Given the description of an element on the screen output the (x, y) to click on. 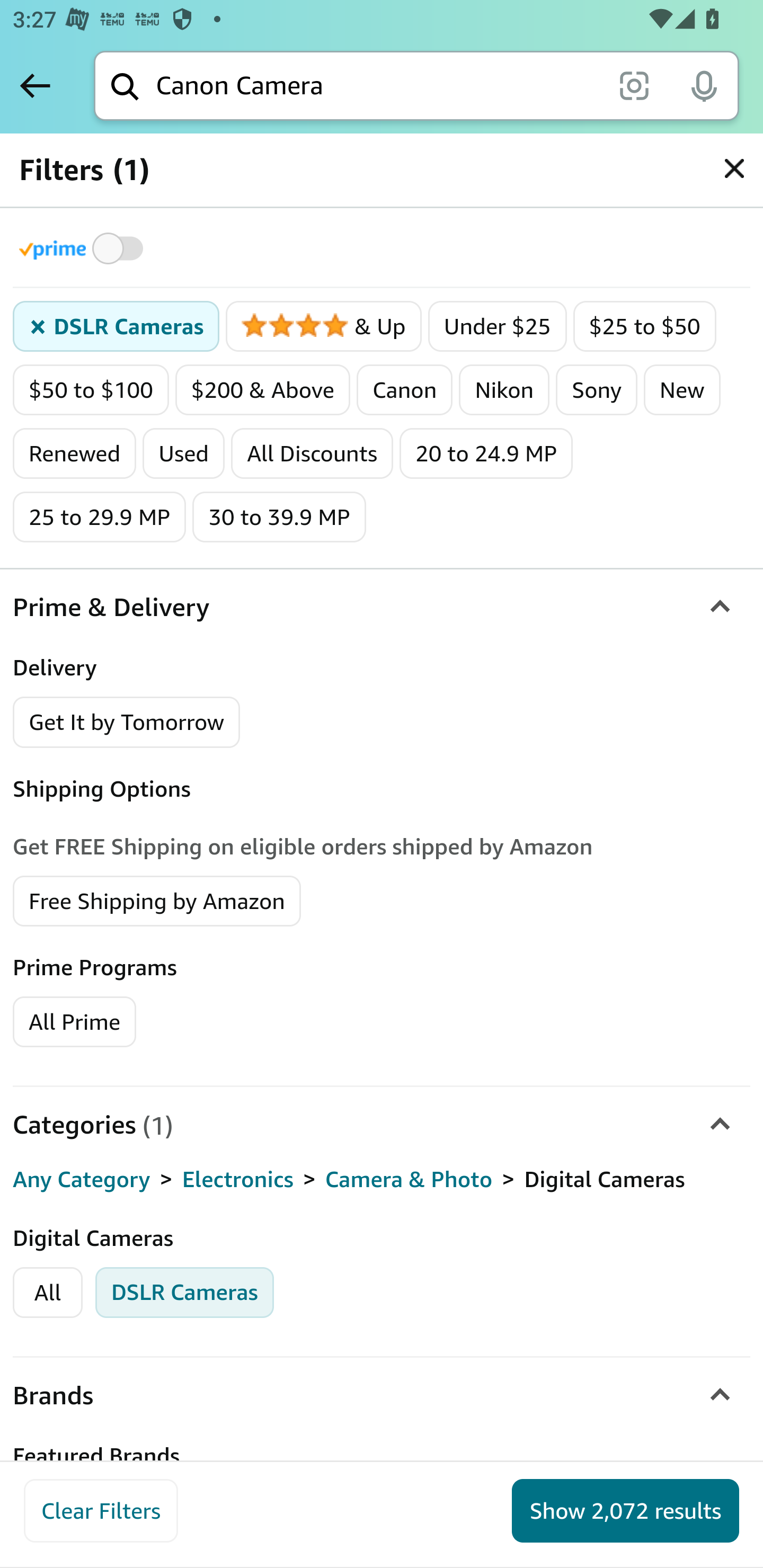
Back (35, 85)
scan it (633, 85)
Toggle to filter by Prime products Prime Eligible (83, 247)
× DSLR Cameras × DSLR Cameras (116, 326)
4 Stars & Up (323, 326)
Under $25 (497, 326)
$25 to $50 (644, 326)
$50 to $100 (91, 390)
$200 & Above (262, 390)
Canon (404, 390)
Nikon (503, 390)
Sony (596, 390)
New (682, 390)
Renewed (74, 453)
Used (183, 453)
All Discounts (312, 453)
20 to 24.9 MP (486, 453)
25 to 29.9 MP (99, 517)
30 to 39.9 MP (279, 517)
Prime & Delivery (381, 607)
Get It by Tomorrow (126, 721)
Free Shipping by Amazon (157, 899)
All Prime (74, 1020)
Categories (1) (381, 1124)
Any Category (81, 1179)
Electronics (237, 1179)
Camera & Photo (408, 1179)
All (47, 1292)
Brands (381, 1395)
Clear Filters (100, 1510)
Show 2,072 results (625, 1510)
